Given the description of an element on the screen output the (x, y) to click on. 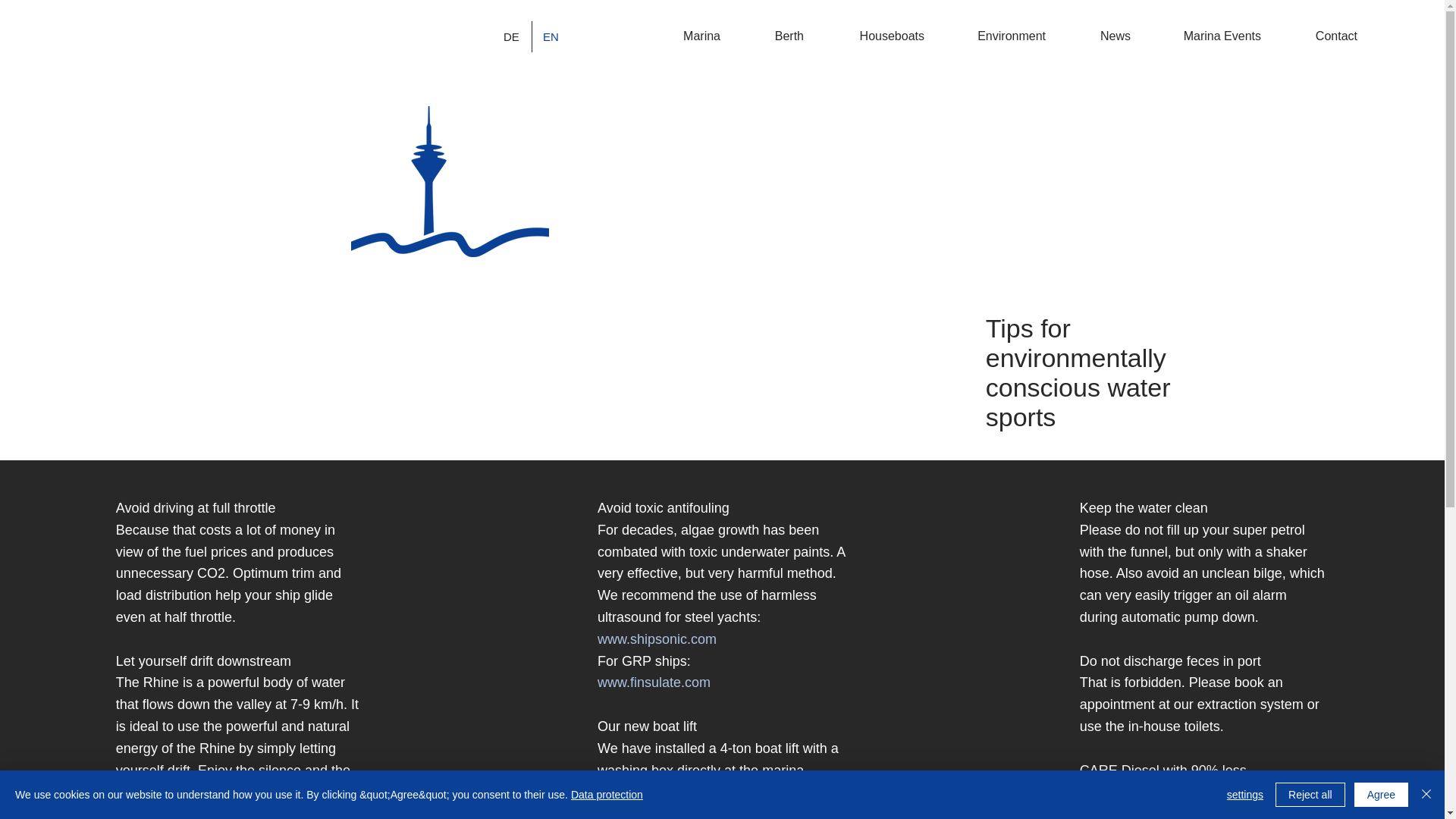
Agree (1380, 794)
EN (550, 36)
www.finsulate.com (653, 682)
Reject all (1310, 794)
DE (512, 36)
Marina Events (1206, 36)
Berth (773, 36)
Houseboats (875, 36)
www.shipsonic.com (656, 639)
Environment (996, 36)
